Given the description of an element on the screen output the (x, y) to click on. 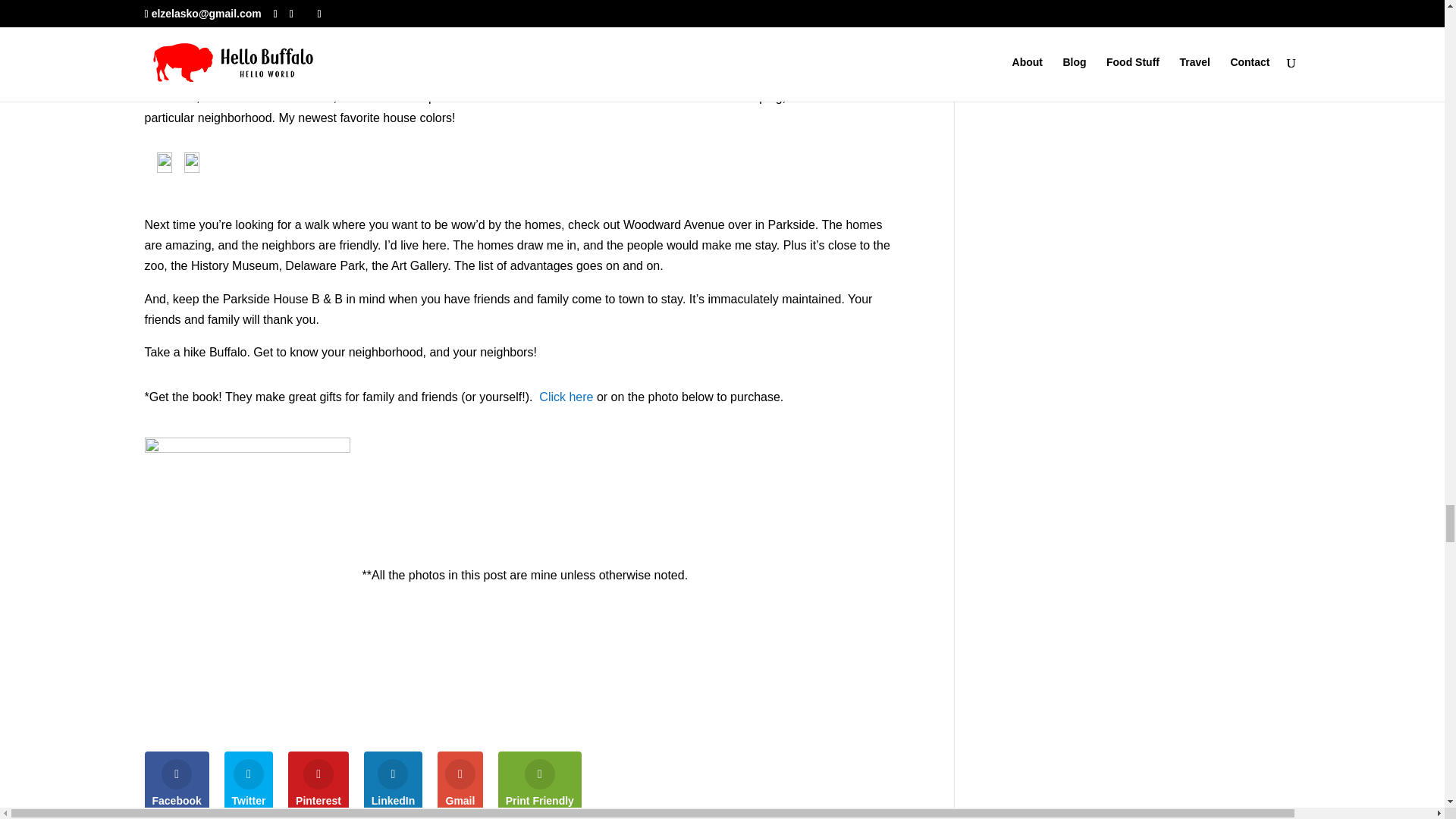
LinkedIn (393, 782)
Print Friendly (538, 782)
Click here (565, 396)
Facebook (176, 782)
Pinterest (318, 782)
